Given the description of an element on the screen output the (x, y) to click on. 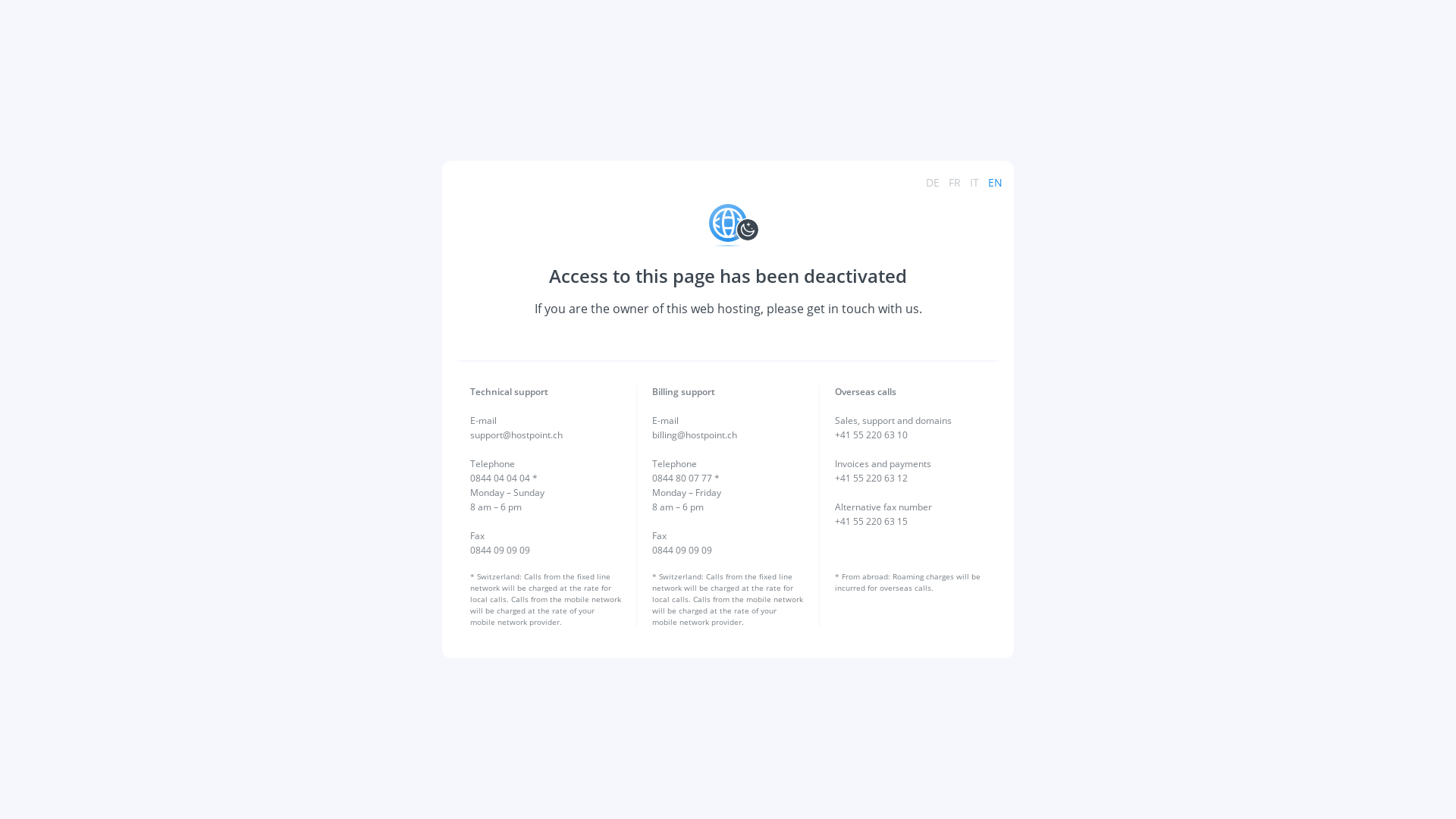
support@hostpoint.ch Element type: text (516, 434)
billing@hostpoint.ch Element type: text (694, 434)
